Given the description of an element on the screen output the (x, y) to click on. 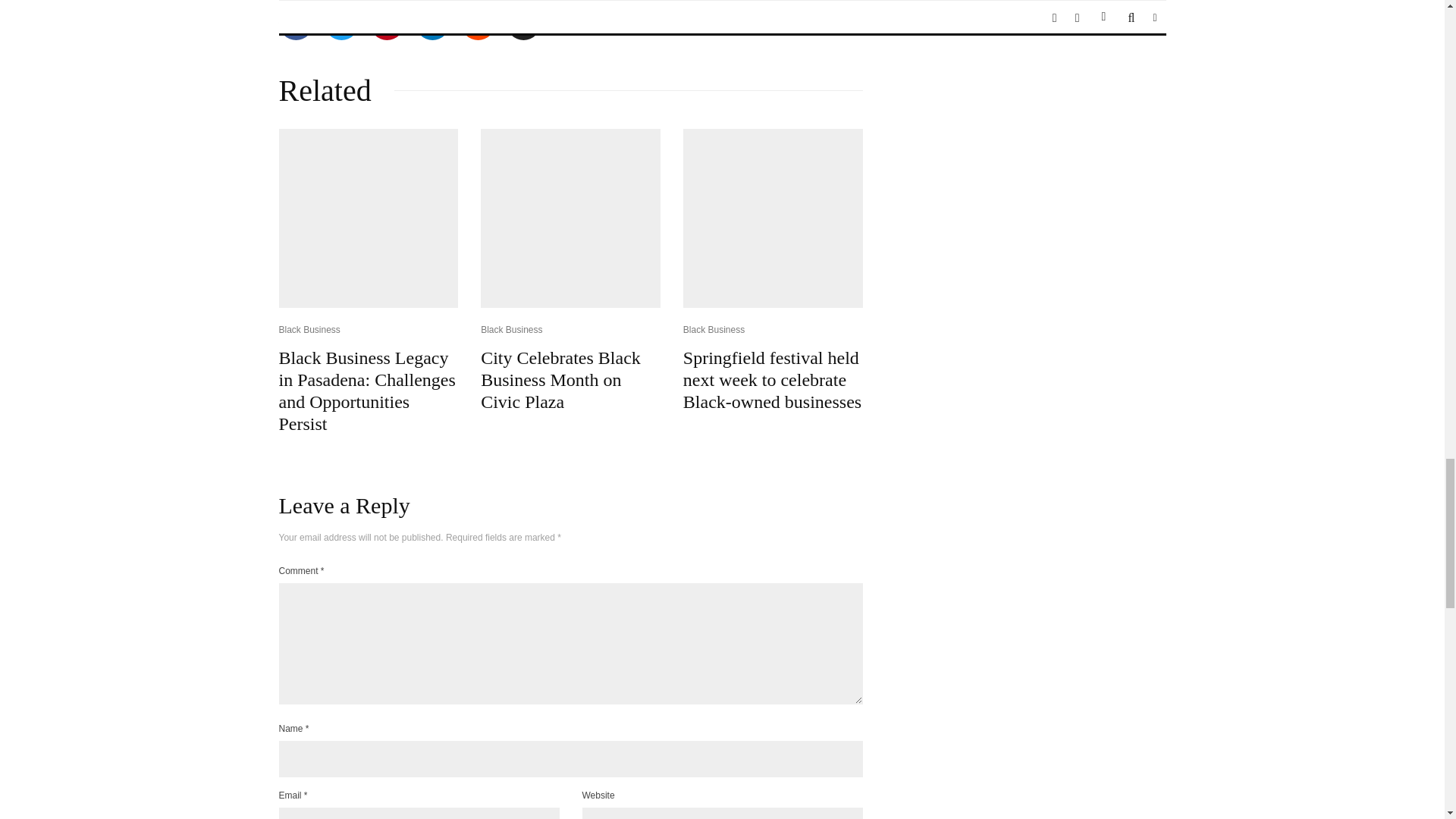
Black Business (309, 330)
Black Business (510, 330)
